Given the description of an element on the screen output the (x, y) to click on. 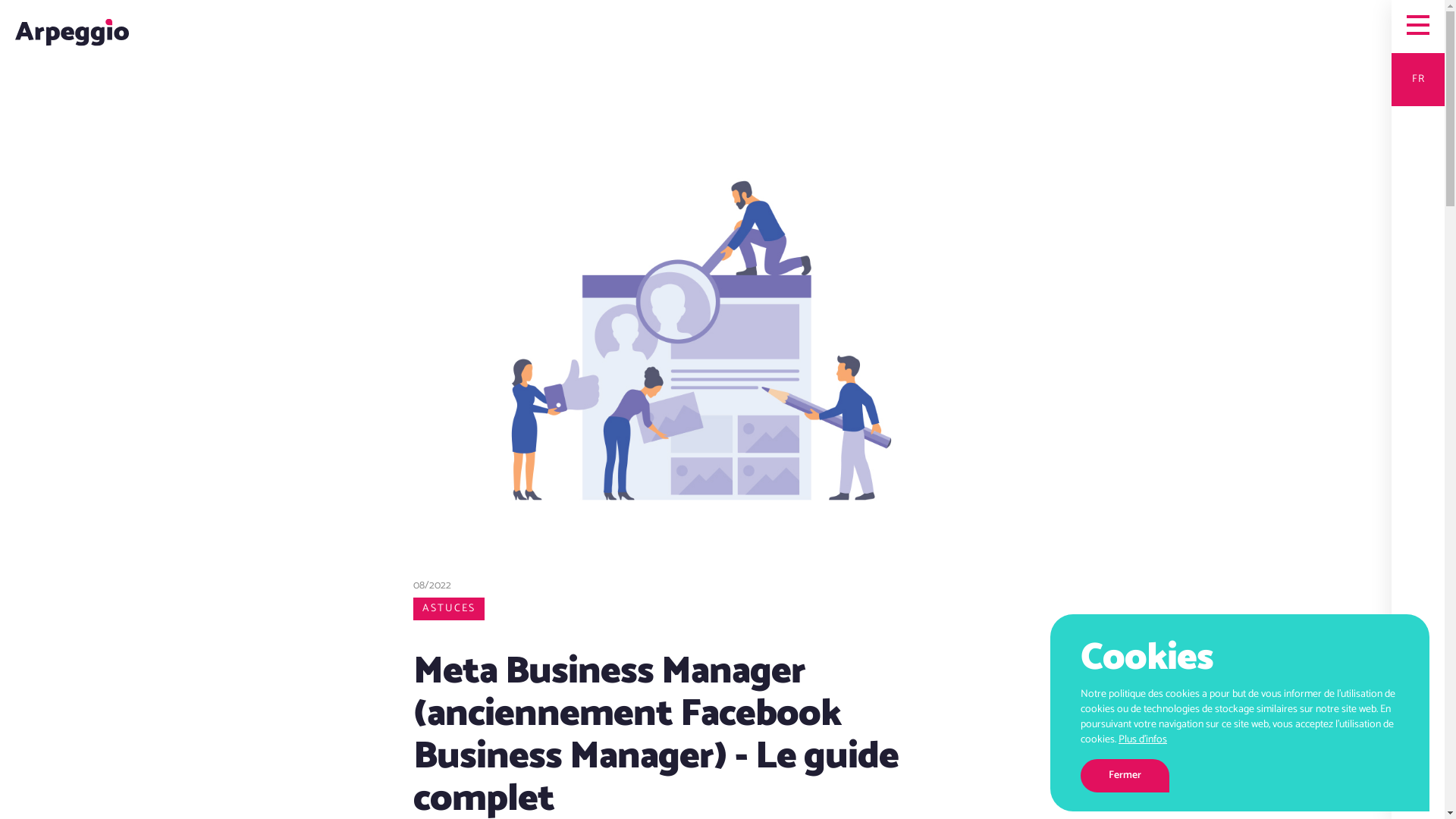
FR Element type: text (1417, 106)
Fermer Element type: text (1124, 775)
